Given the description of an element on the screen output the (x, y) to click on. 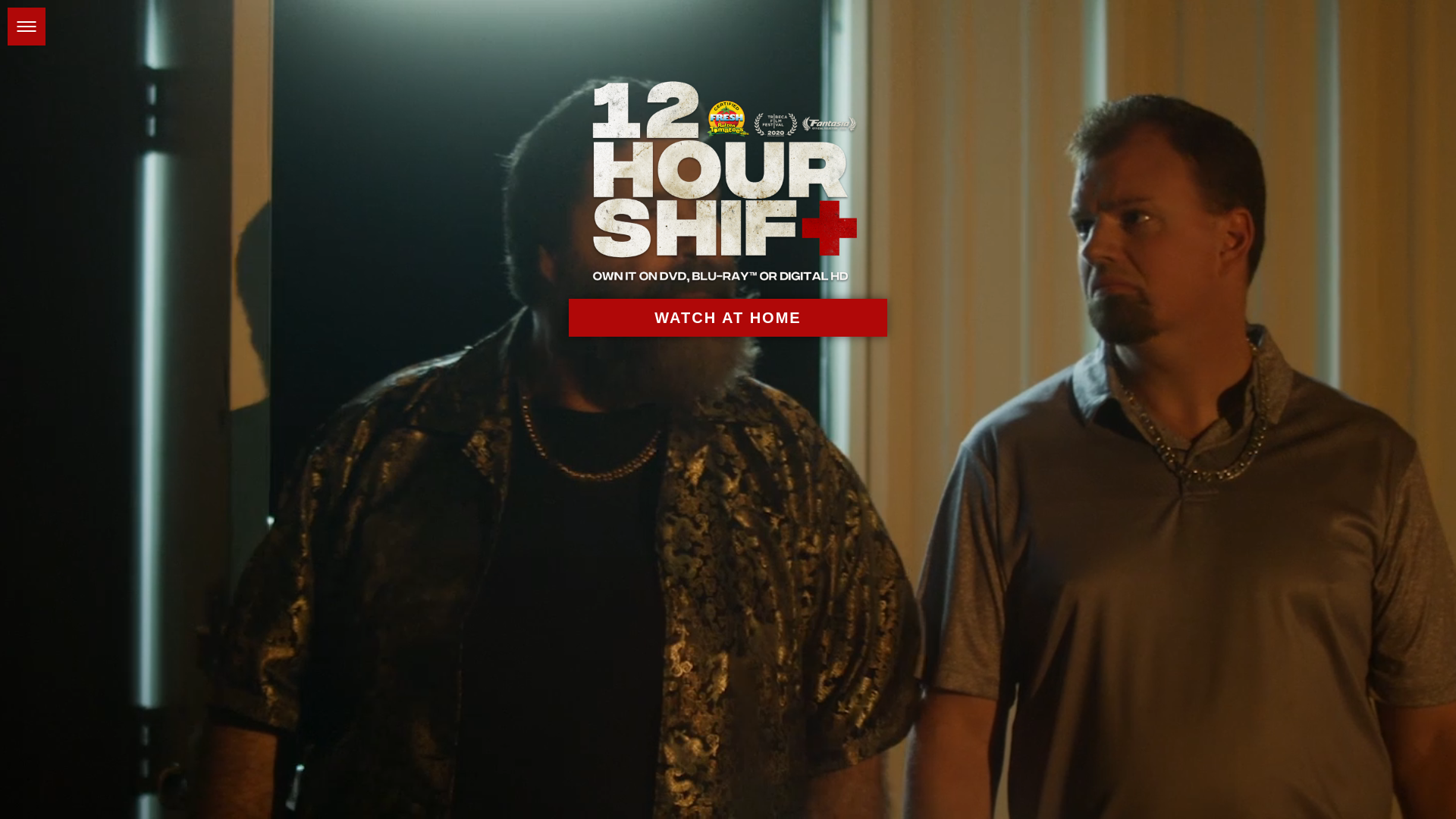
WATCH AT HOME Element type: text (727, 317)
